Given the description of an element on the screen output the (x, y) to click on. 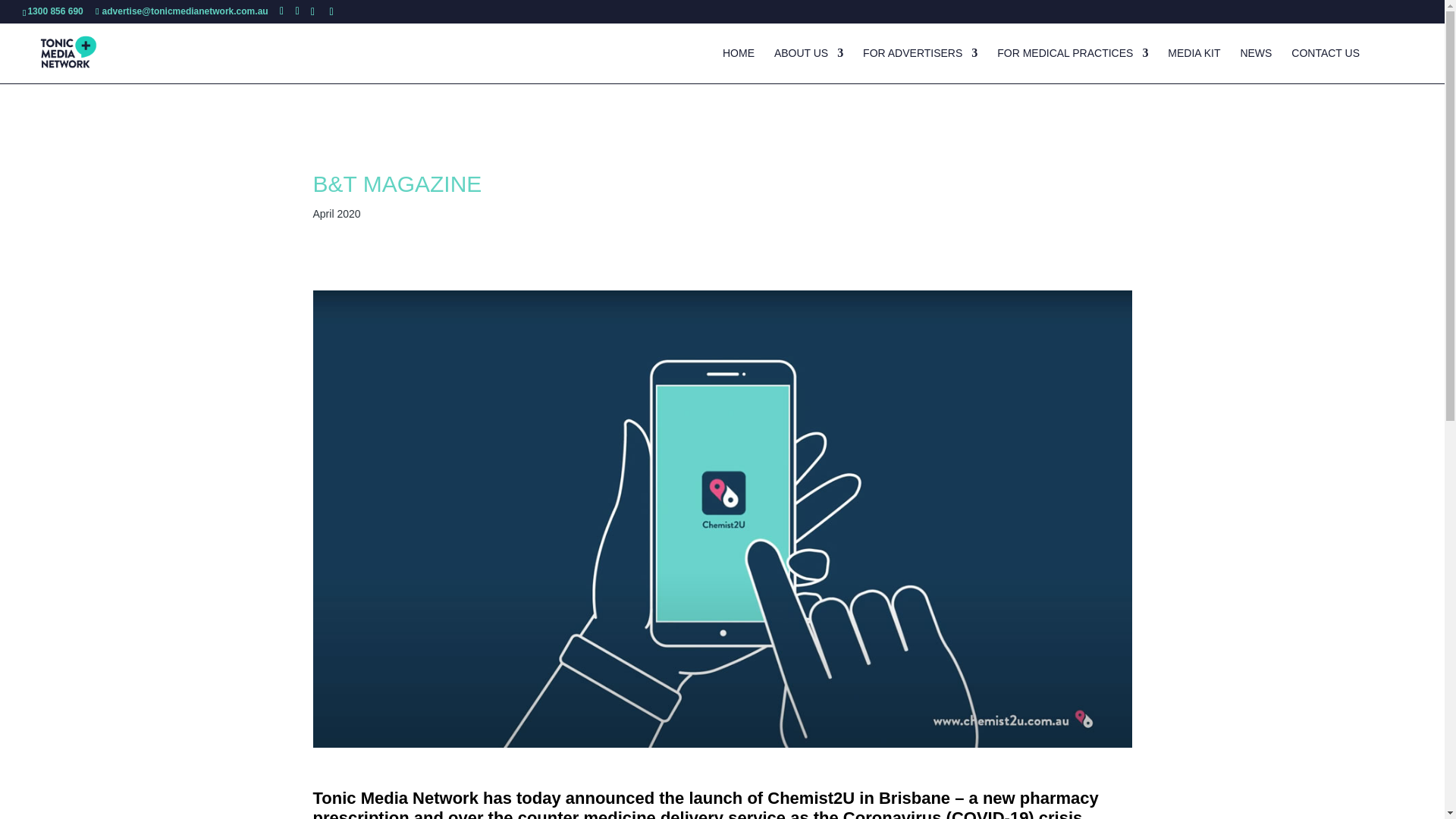
FOR ADVERTISERS (919, 65)
CONTACT US (1325, 65)
NEWS (1255, 65)
HOME (738, 65)
FOR MEDICAL PRACTICES (1072, 65)
MEDIA KIT (1193, 65)
ABOUT US (808, 65)
